Given the description of an element on the screen output the (x, y) to click on. 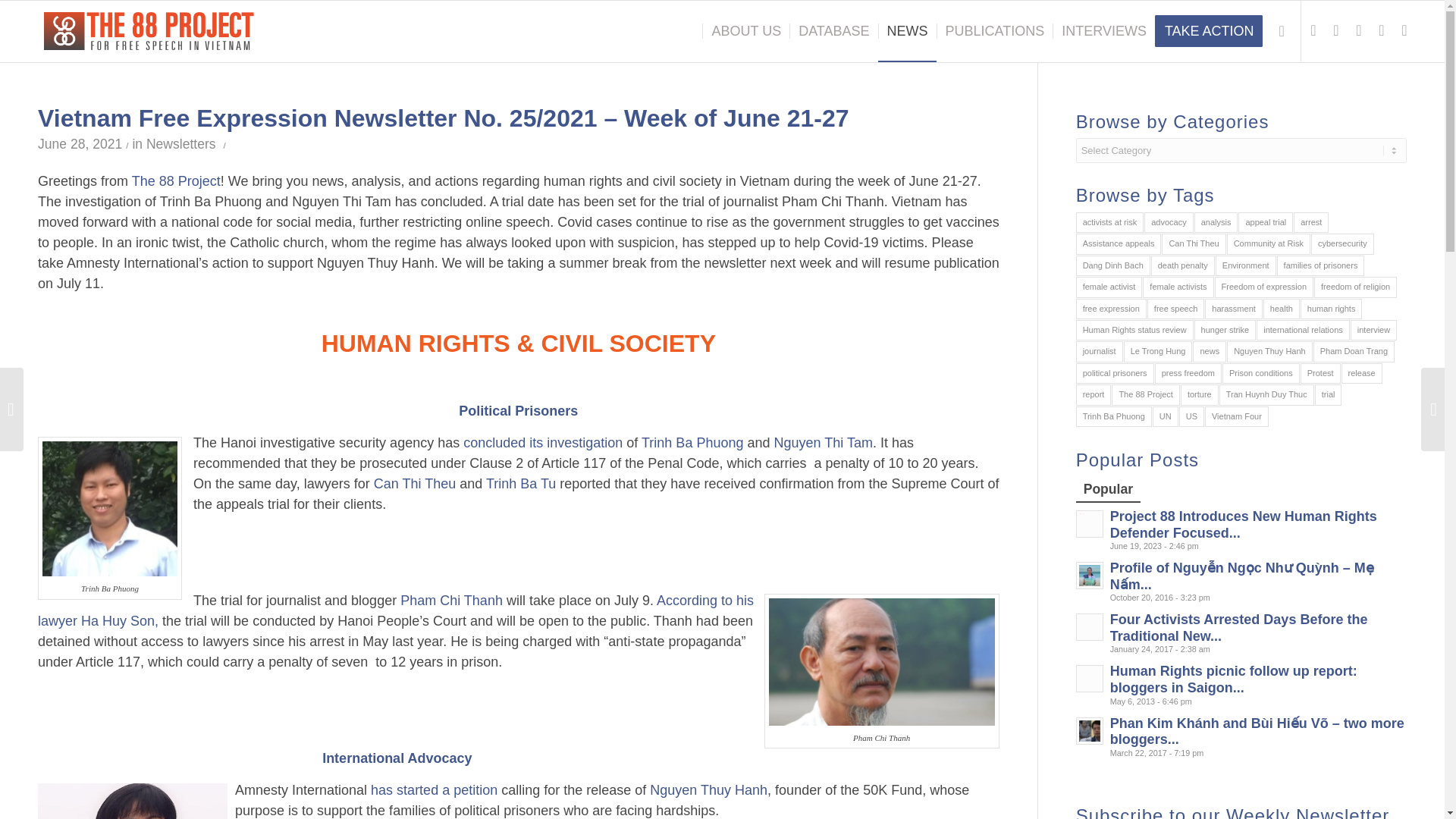
Instagram (1359, 29)
Pham Chi Thanh (451, 600)
Nguyen Thi Tam (822, 442)
Can Thi Theu (414, 483)
INTERVIEWS (1103, 30)
ABOUT US (745, 30)
Facebook (1381, 29)
Newsletters (181, 143)
The 88 Project (176, 181)
DATABASE (833, 30)
TAKE ACTION (1212, 30)
has started a petition (431, 789)
concluded its investigation (543, 442)
88project (149, 30)
Mail (1404, 29)
